Given the description of an element on the screen output the (x, y) to click on. 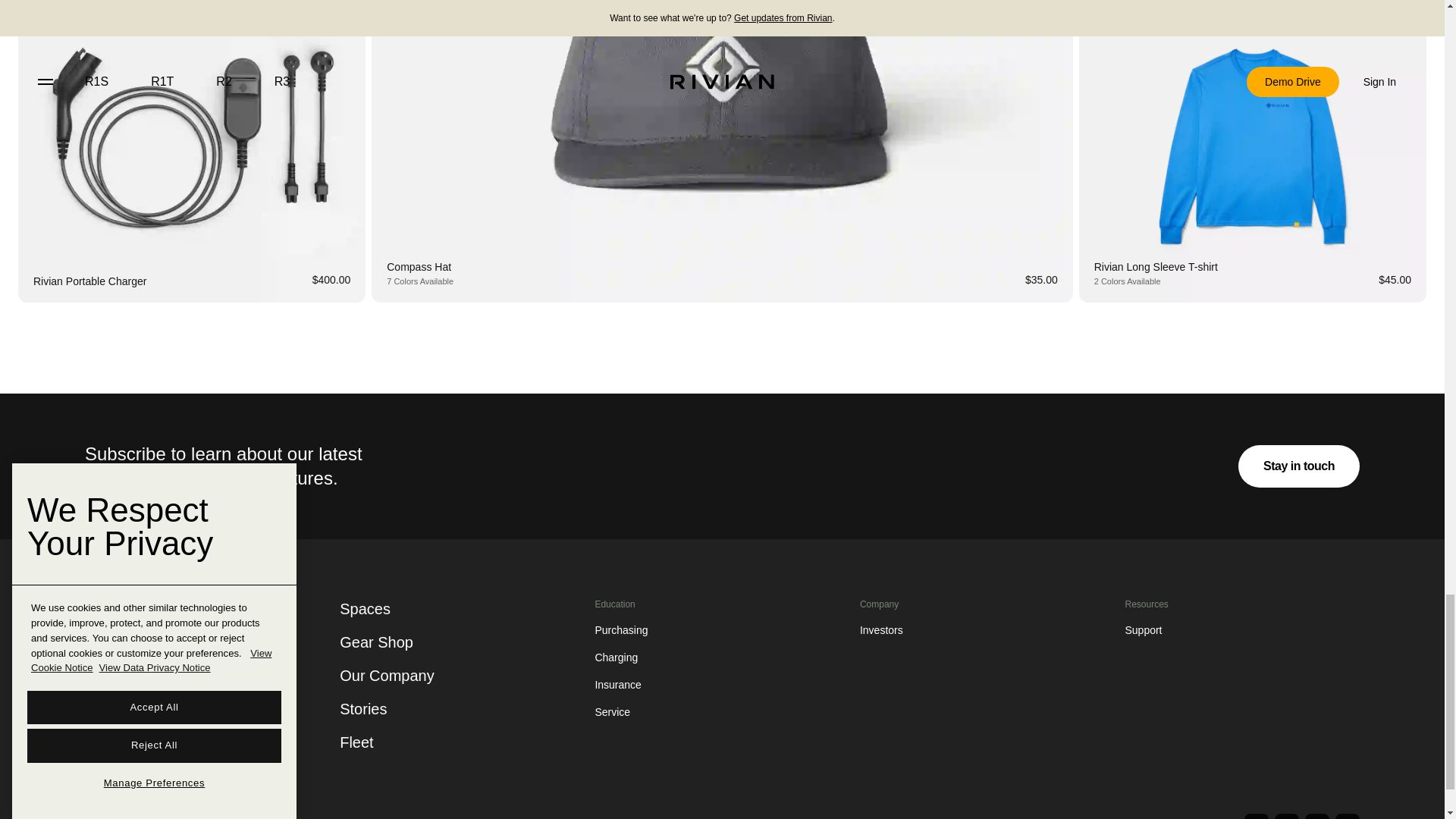
R1T (107, 613)
Stay in touch (1299, 466)
R1S (108, 655)
R2 (100, 697)
